Given the description of an element on the screen output the (x, y) to click on. 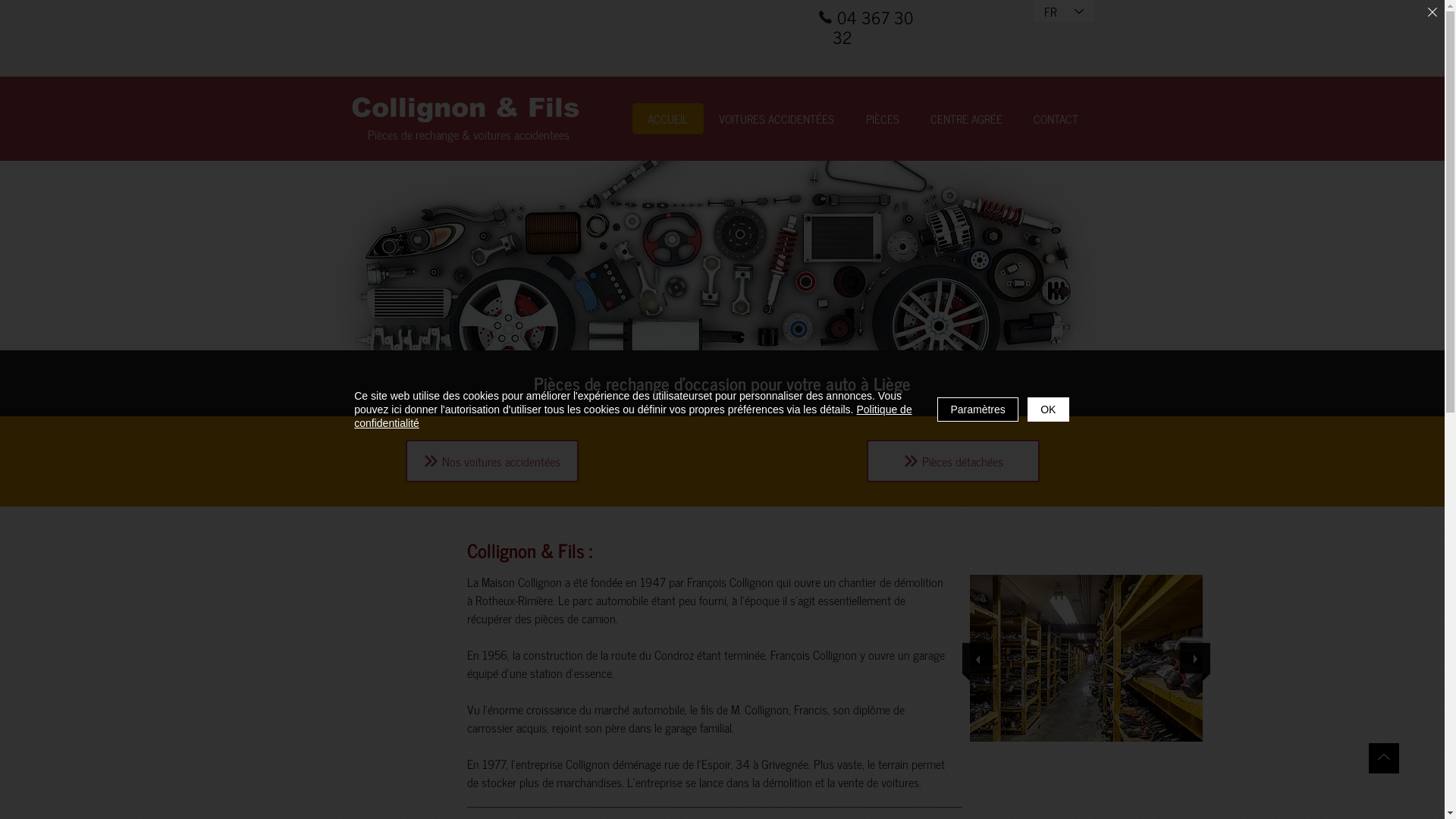
Collignon & Fils Element type: text (464, 106)
 04 367 30 32 Element type: text (872, 26)
CONTACT Element type: text (1055, 118)
ACCUEIL Element type: text (667, 118)
OK Element type: text (1048, 409)
